Given the description of an element on the screen output the (x, y) to click on. 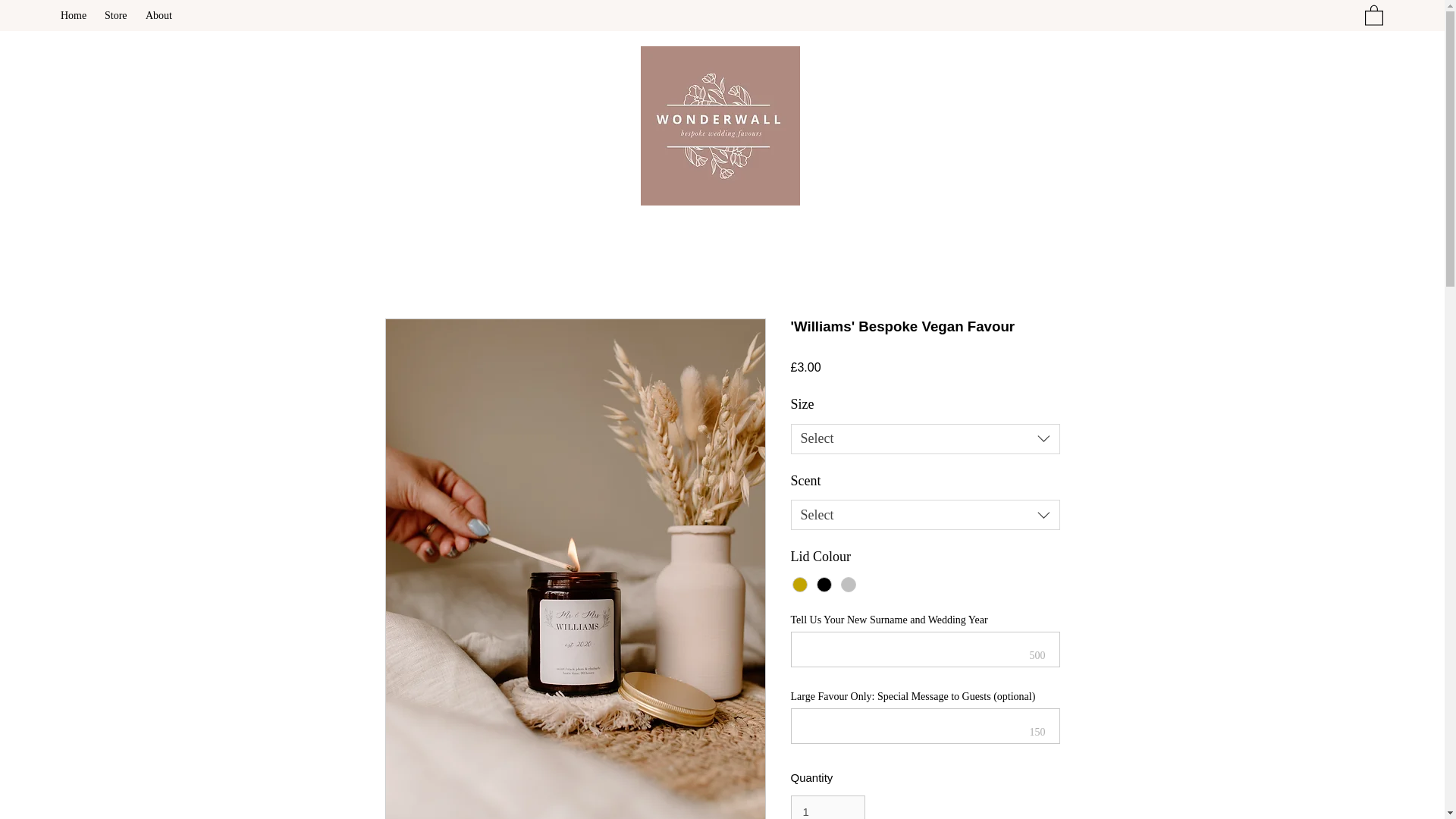
Home (74, 15)
Select (924, 439)
About (160, 15)
1 (827, 807)
Store (117, 15)
Select (924, 514)
